Given the description of an element on the screen output the (x, y) to click on. 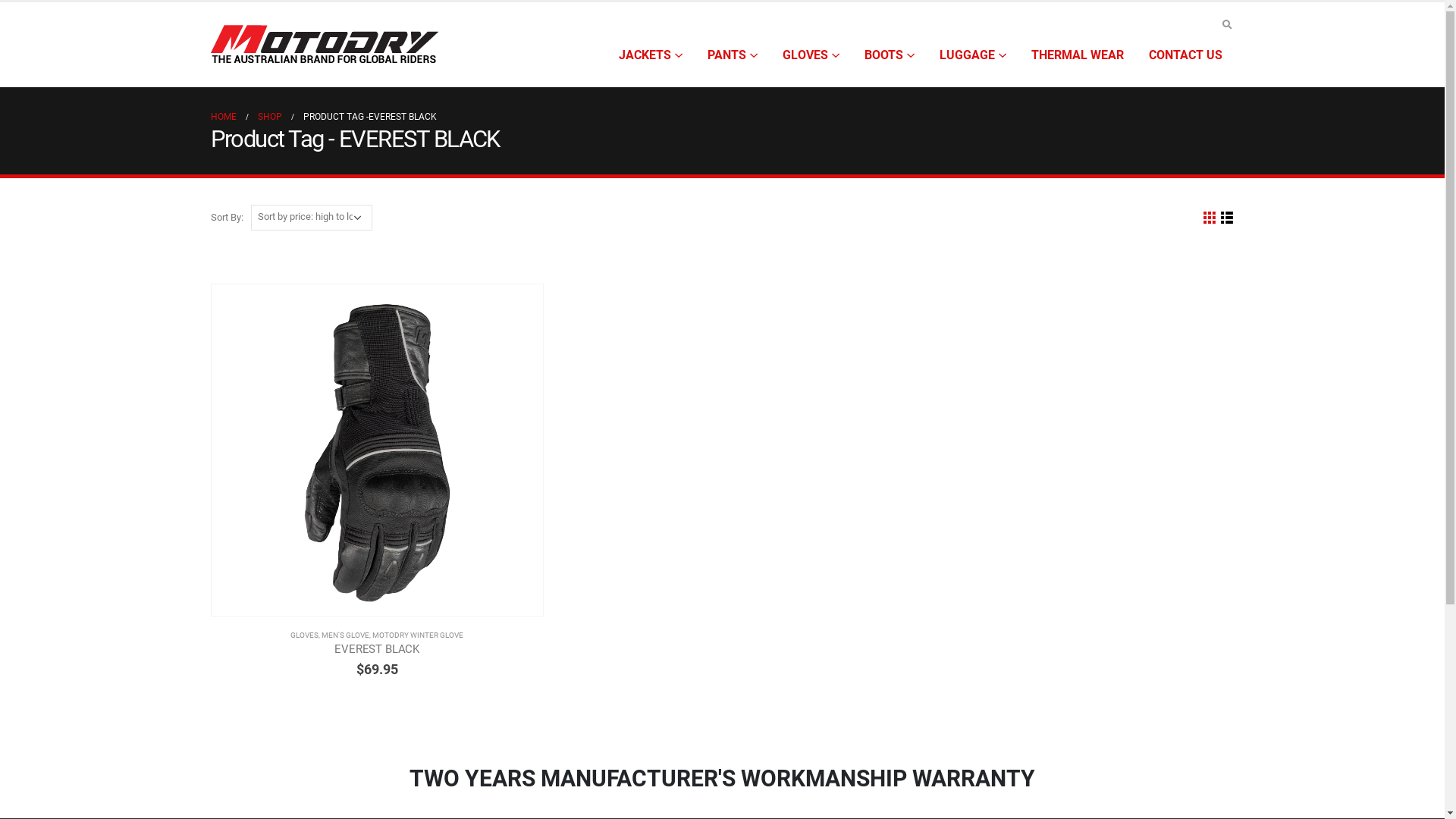
List View Element type: hover (1226, 217)
PANTS Element type: text (731, 55)
GLOVES Element type: text (810, 55)
BOOTS Element type: text (889, 55)
Grid View Element type: hover (1208, 217)
THERMAL WEAR Element type: text (1077, 55)
MEN'S GLOVE Element type: text (345, 634)
GLOVES Element type: text (304, 634)
HOME Element type: text (223, 116)
MOTODRY WINTER GLOVE Element type: text (417, 634)
CONTACT US Element type: text (1184, 55)
JACKETS Element type: text (650, 55)
EVEREST BLACK Element type: text (376, 648)
LUGGAGE Element type: text (971, 55)
SHOP Element type: text (269, 116)
